Given the description of an element on the screen output the (x, y) to click on. 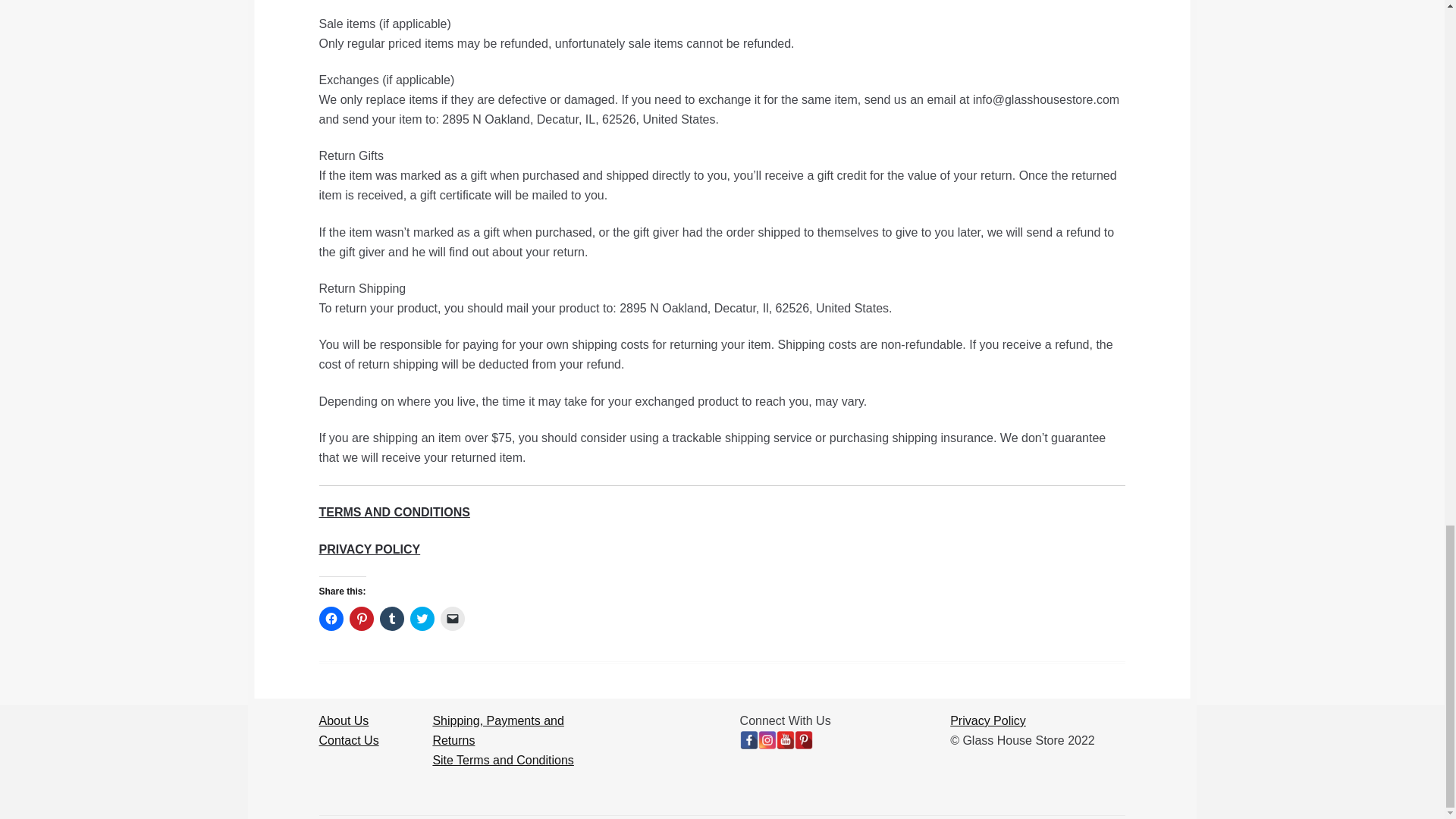
Click to share on Twitter (421, 618)
Pinterest (803, 740)
YouTube (785, 740)
Click to share on Tumblr (392, 618)
Click to share on Pinterest (361, 618)
Click to email a link to a friend (452, 618)
Instagram (767, 740)
Click to share on Facebook (330, 618)
Facebook (748, 740)
